Given the description of an element on the screen output the (x, y) to click on. 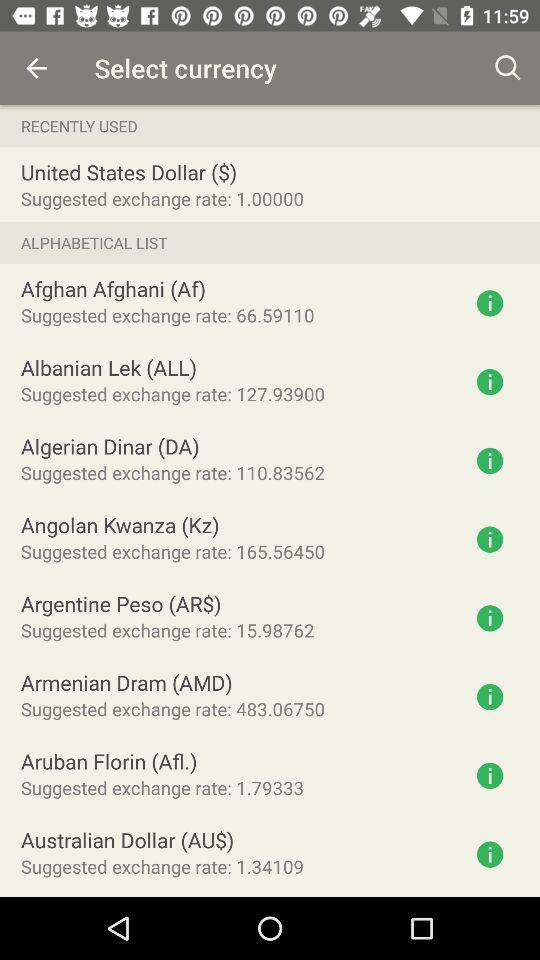
green info button is flashing (490, 775)
